Given the description of an element on the screen output the (x, y) to click on. 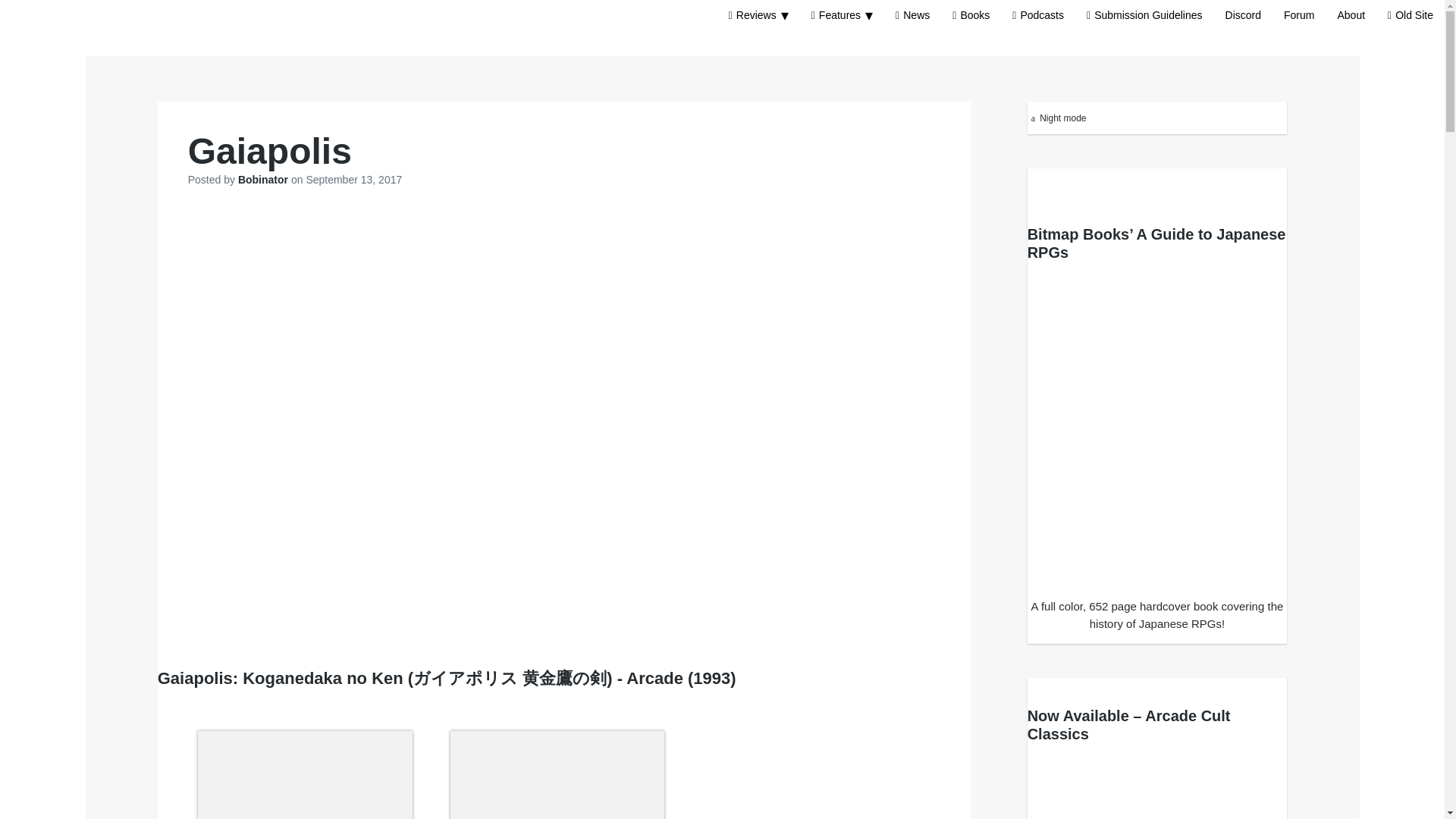
Bobinator (264, 179)
